Given the description of an element on the screen output the (x, y) to click on. 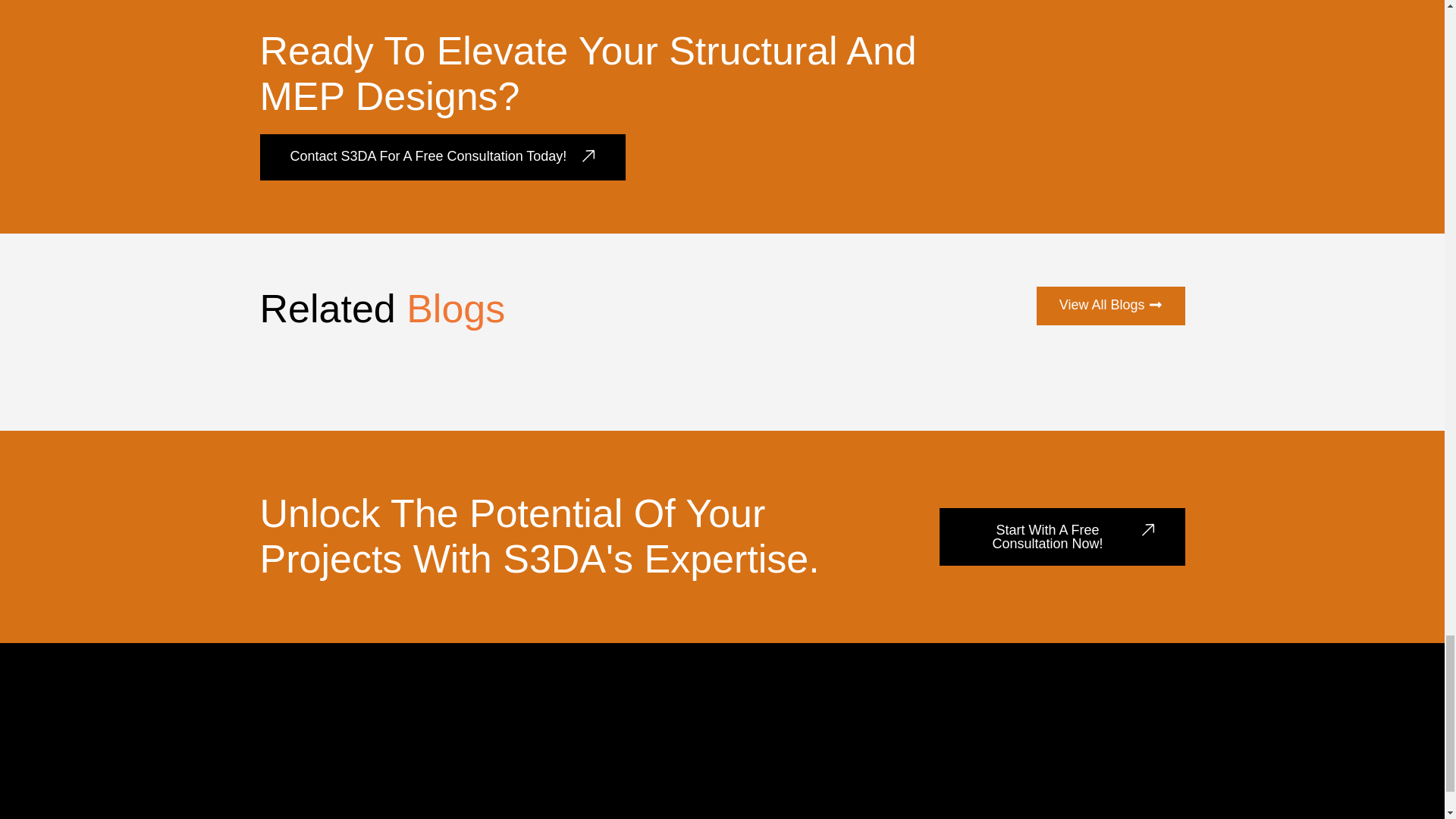
Contact S3DA For A Free Consultation Today! (442, 157)
Start With A Free Consultation Now! (1062, 536)
View All Blogs (1110, 305)
